Given the description of an element on the screen output the (x, y) to click on. 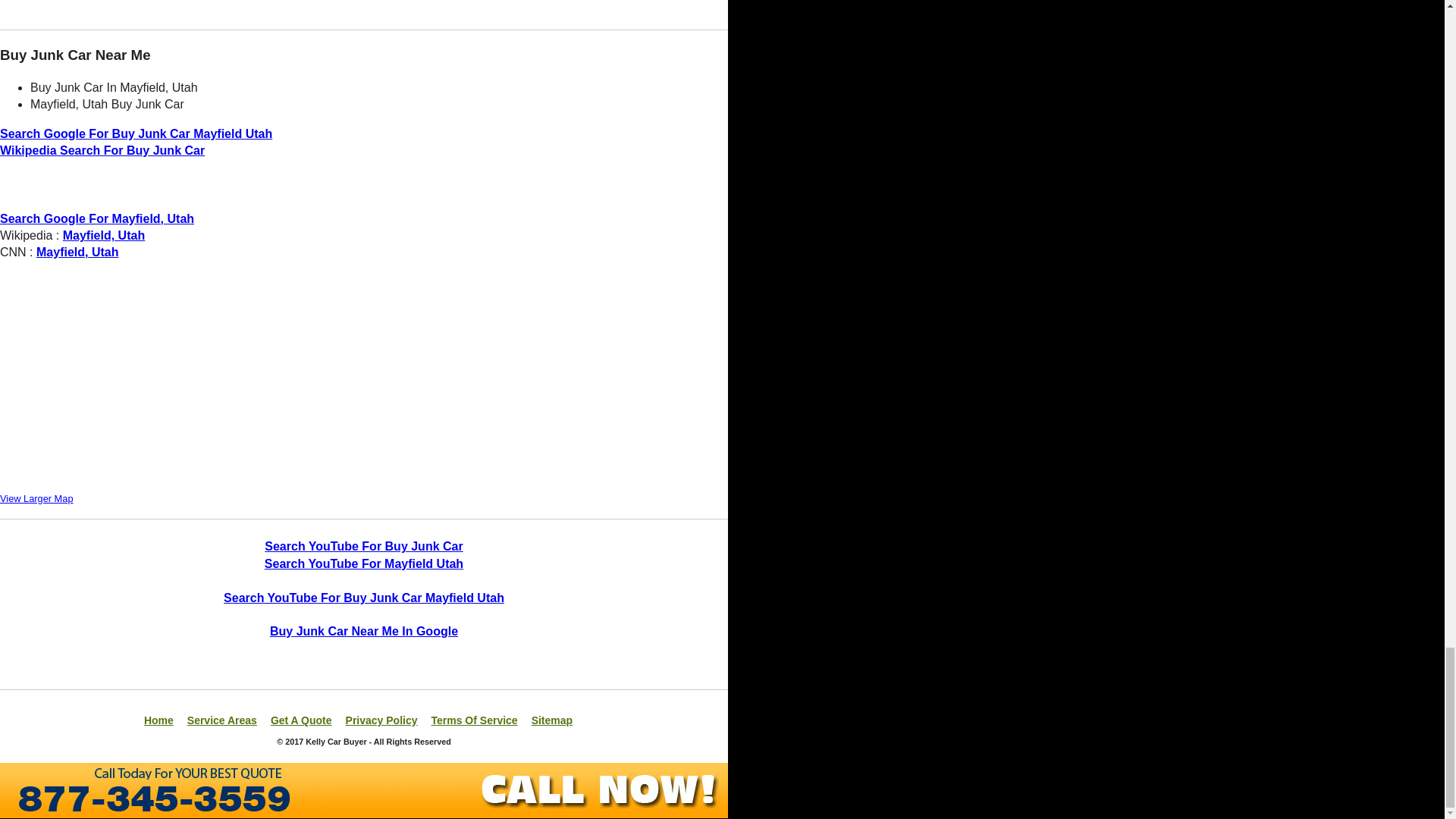
Service Areas (222, 720)
Search YouTube For Mayfield Utah (363, 563)
Home (158, 720)
Get A Quote (300, 720)
Privacy Policy (381, 720)
View Larger Map (37, 498)
Buy Junk Car Near Me In Google (363, 631)
Search Google For Buy Junk Car Mayfield Utah (136, 133)
Sitemap (551, 720)
Search Google For Mayfield, Utah (96, 218)
Wikipedia Search For Buy Junk Car (102, 150)
Search YouTube For Buy Junk Car (363, 545)
Terms Of Service (473, 720)
Search YouTube For Buy Junk Car Mayfield Utah (363, 597)
Mayfield, Utah (103, 235)
